Given the description of an element on the screen output the (x, y) to click on. 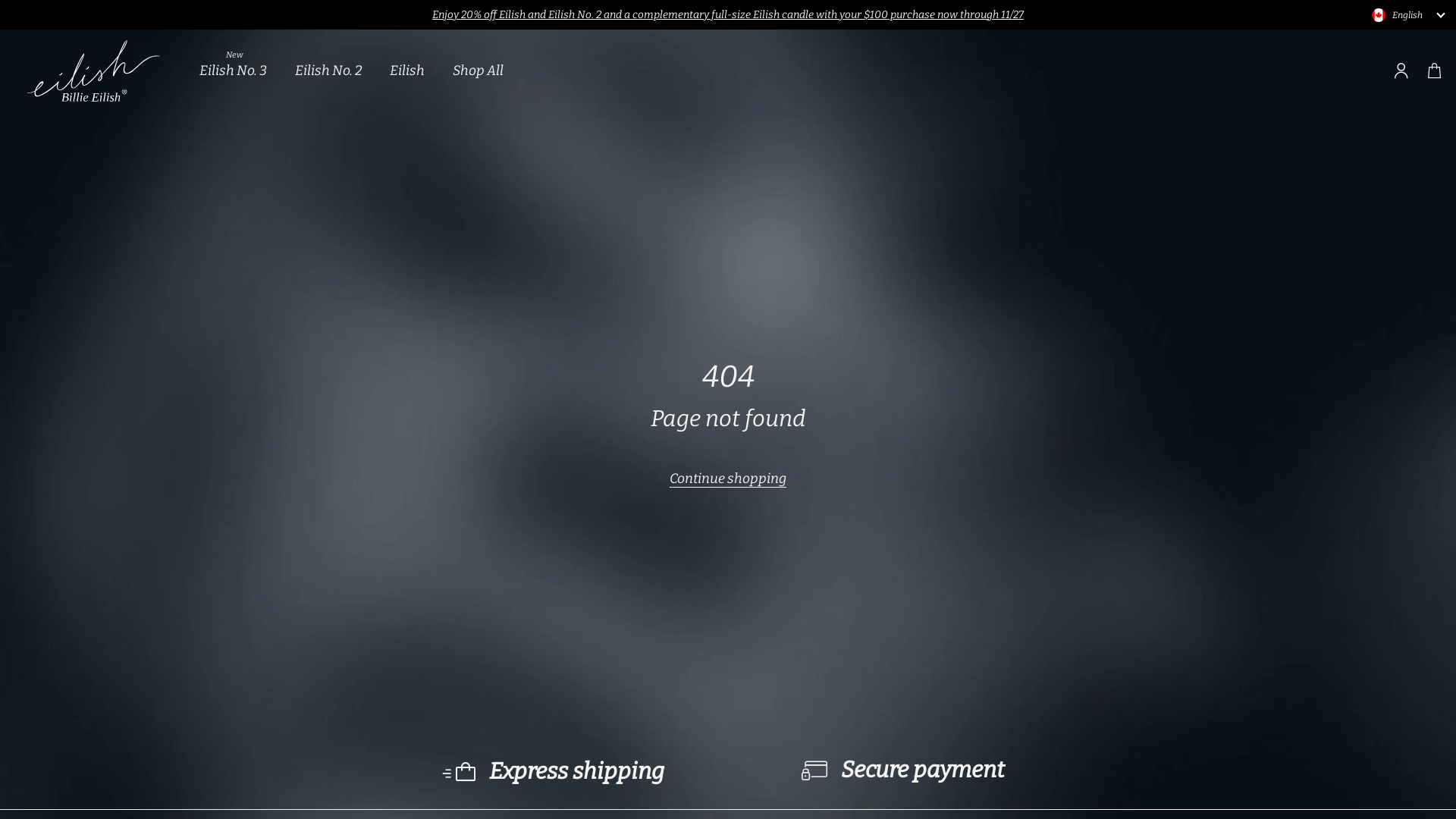
en Element type: hover (1378, 14)
Eilish Canada Element type: hover (93, 70)
account Element type: hover (1400, 70)
New
Eilish No. 3 Element type: text (234, 70)
Continue shopping Element type: text (727, 478)
Shop All Element type: text (476, 70)
cart Element type: hover (1434, 70)
Eilish Element type: text (408, 70)
Eilish No. 2 Element type: text (329, 70)
